Given the description of an element on the screen output the (x, y) to click on. 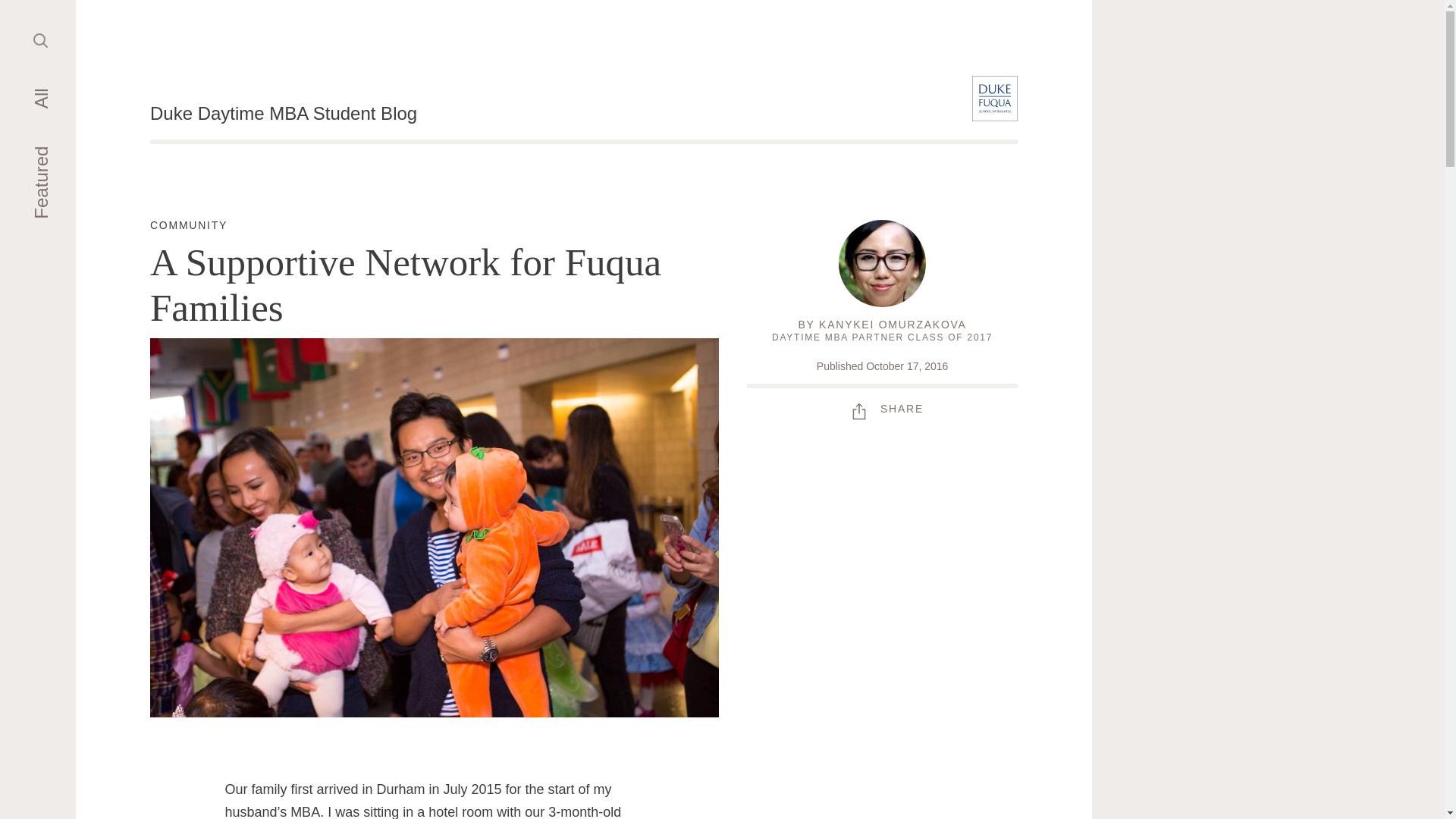
Featured (66, 158)
KANYKEI OMURZAKOVA (892, 324)
Search (40, 40)
SHARE (882, 408)
Duke Daytime MBA Student Blog (282, 113)
